Given the description of an element on the screen output the (x, y) to click on. 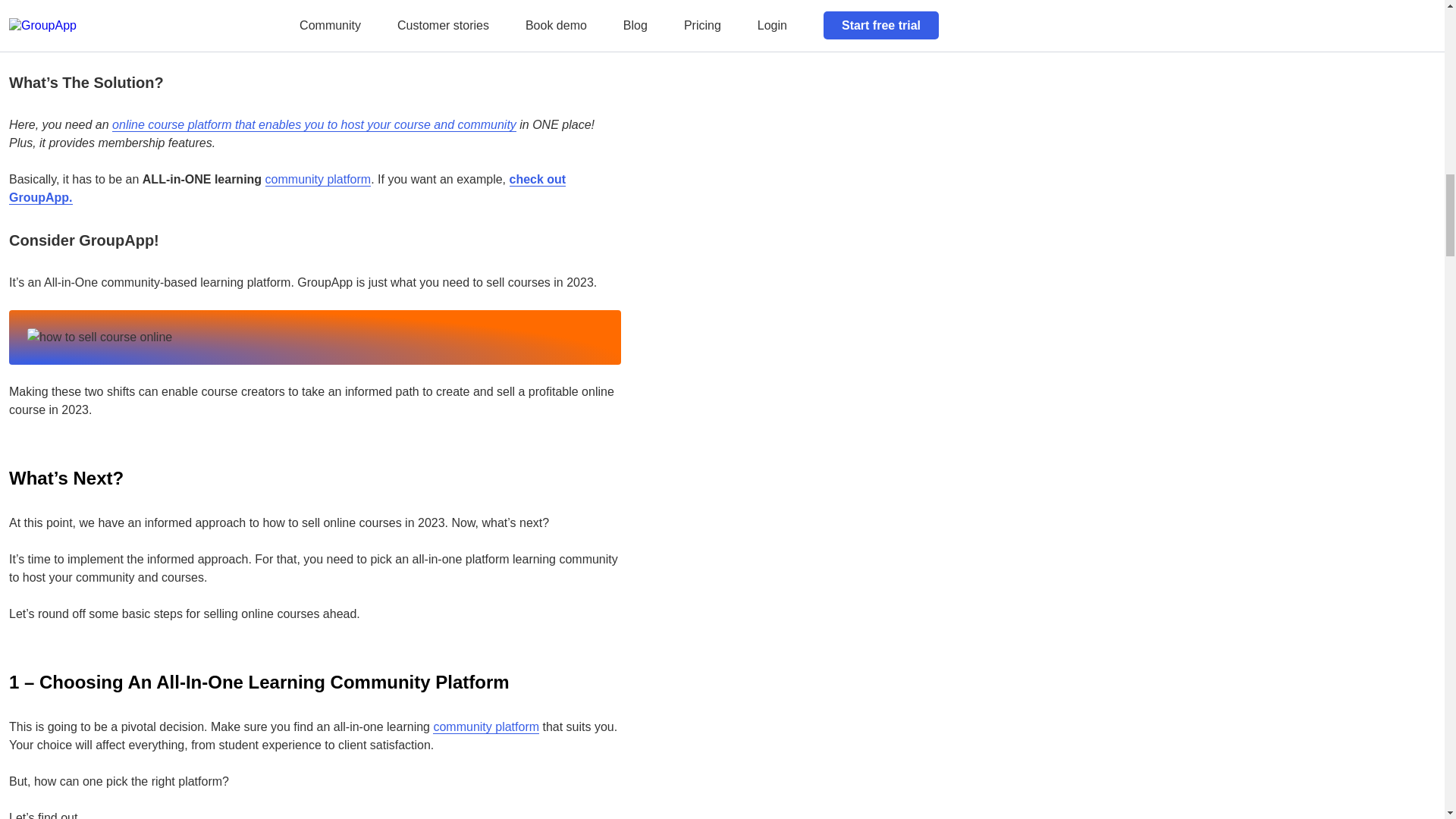
community platform (317, 179)
check out GroupApp. (287, 188)
Facebook groups for communities is a bad idea. (303, 30)
Facebook Groups (296, 21)
community platform (485, 726)
